Given the description of an element on the screen output the (x, y) to click on. 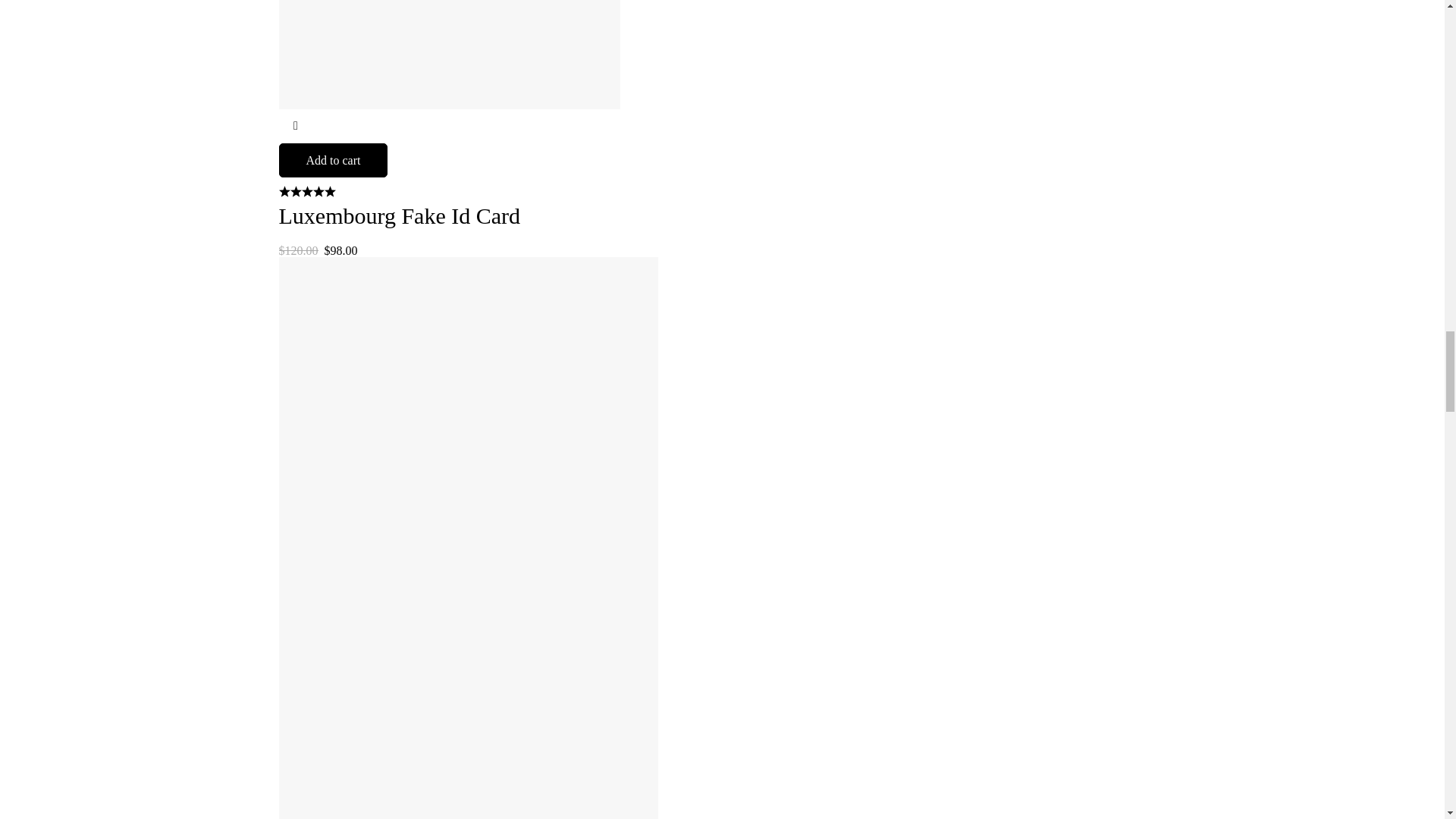
Luxembourg Fake Id Card (400, 215)
Add to cart (333, 160)
Quick view (296, 125)
